Given the description of an element on the screen output the (x, y) to click on. 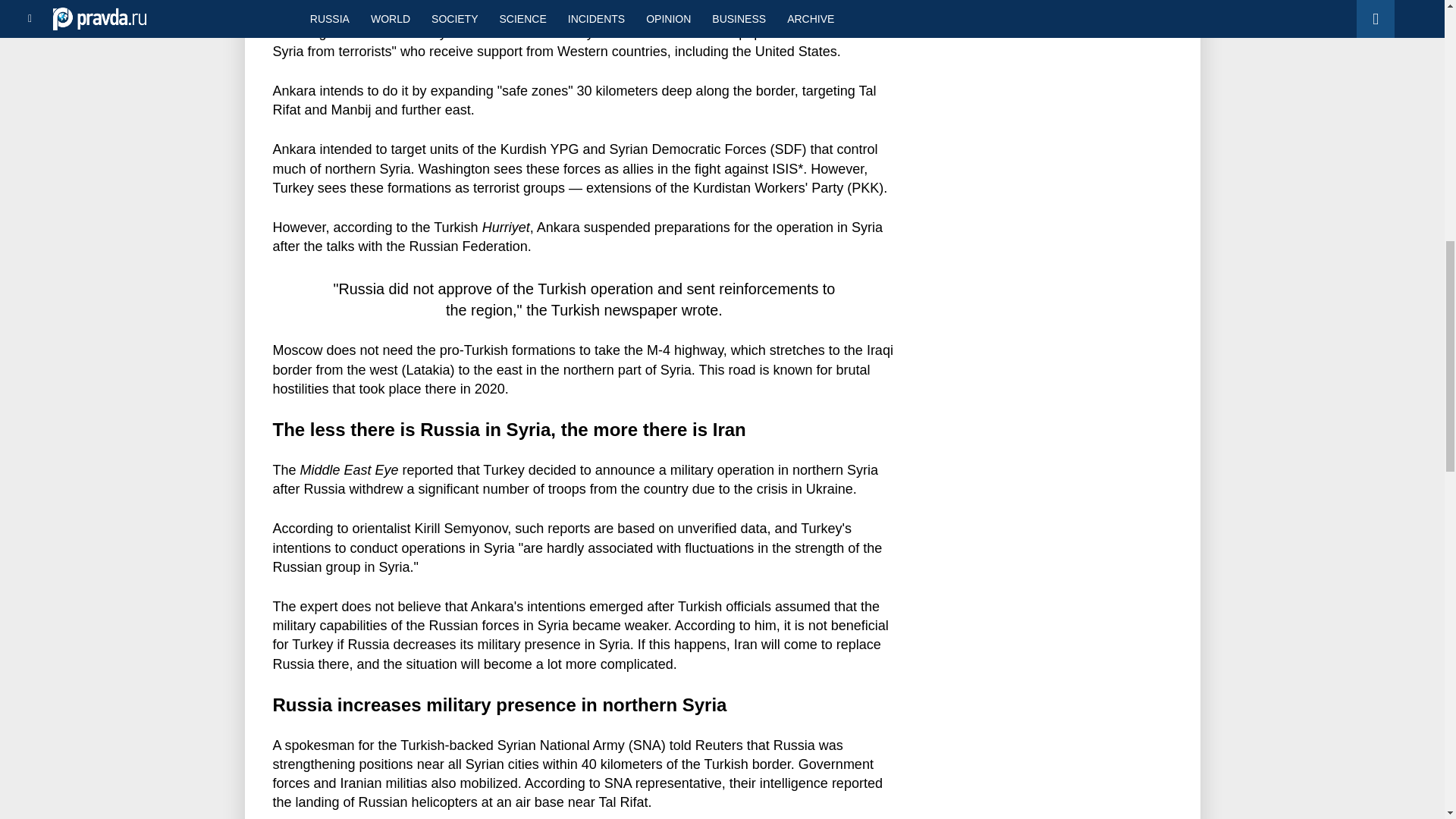
Back to top (1418, 79)
